Given the description of an element on the screen output the (x, y) to click on. 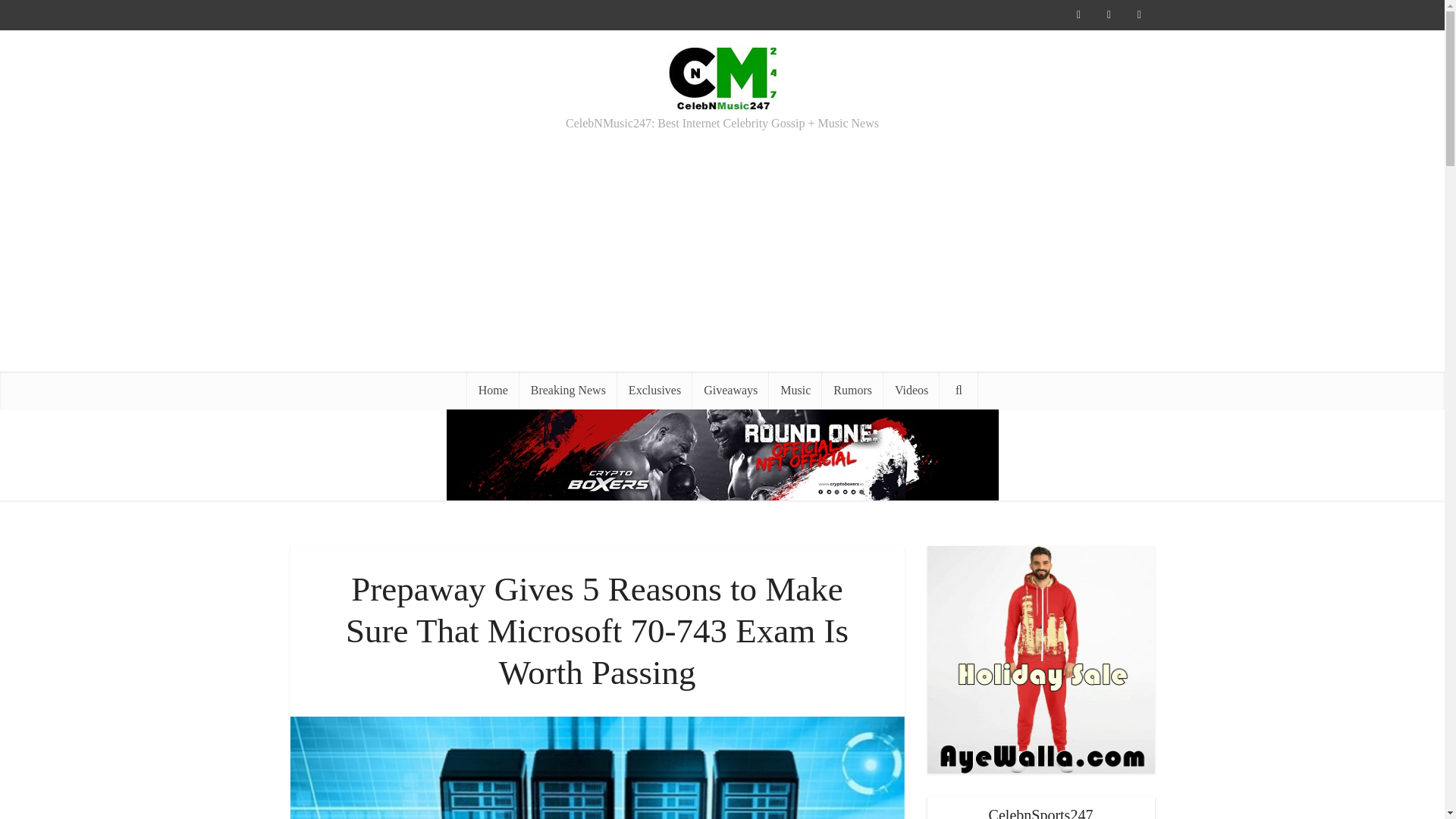
Music (795, 390)
Giveaways (730, 390)
Exclusives (655, 390)
Celebnmusic247 (722, 75)
Videos (911, 390)
Rumors (852, 390)
Breaking News (568, 390)
Home (493, 390)
